Given the description of an element on the screen output the (x, y) to click on. 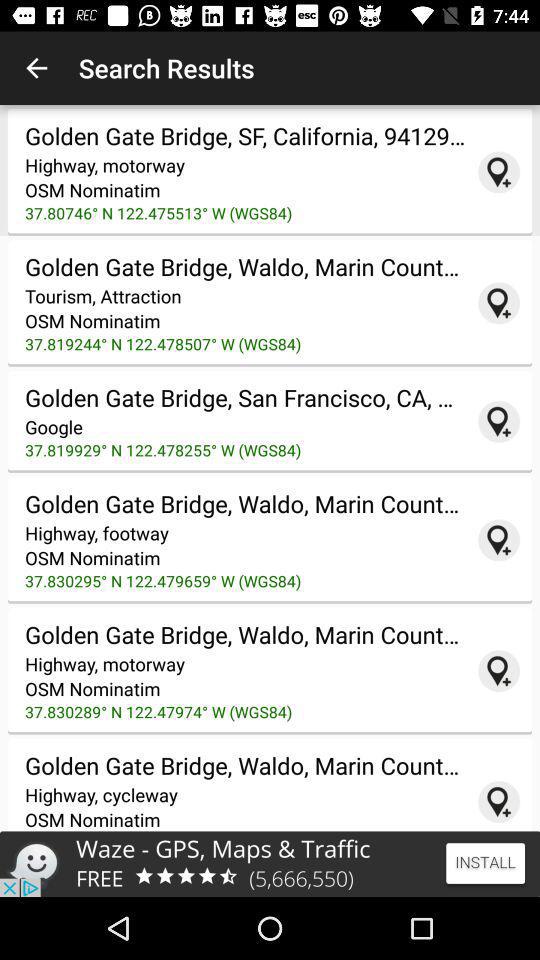
locatoin (499, 172)
